Given the description of an element on the screen output the (x, y) to click on. 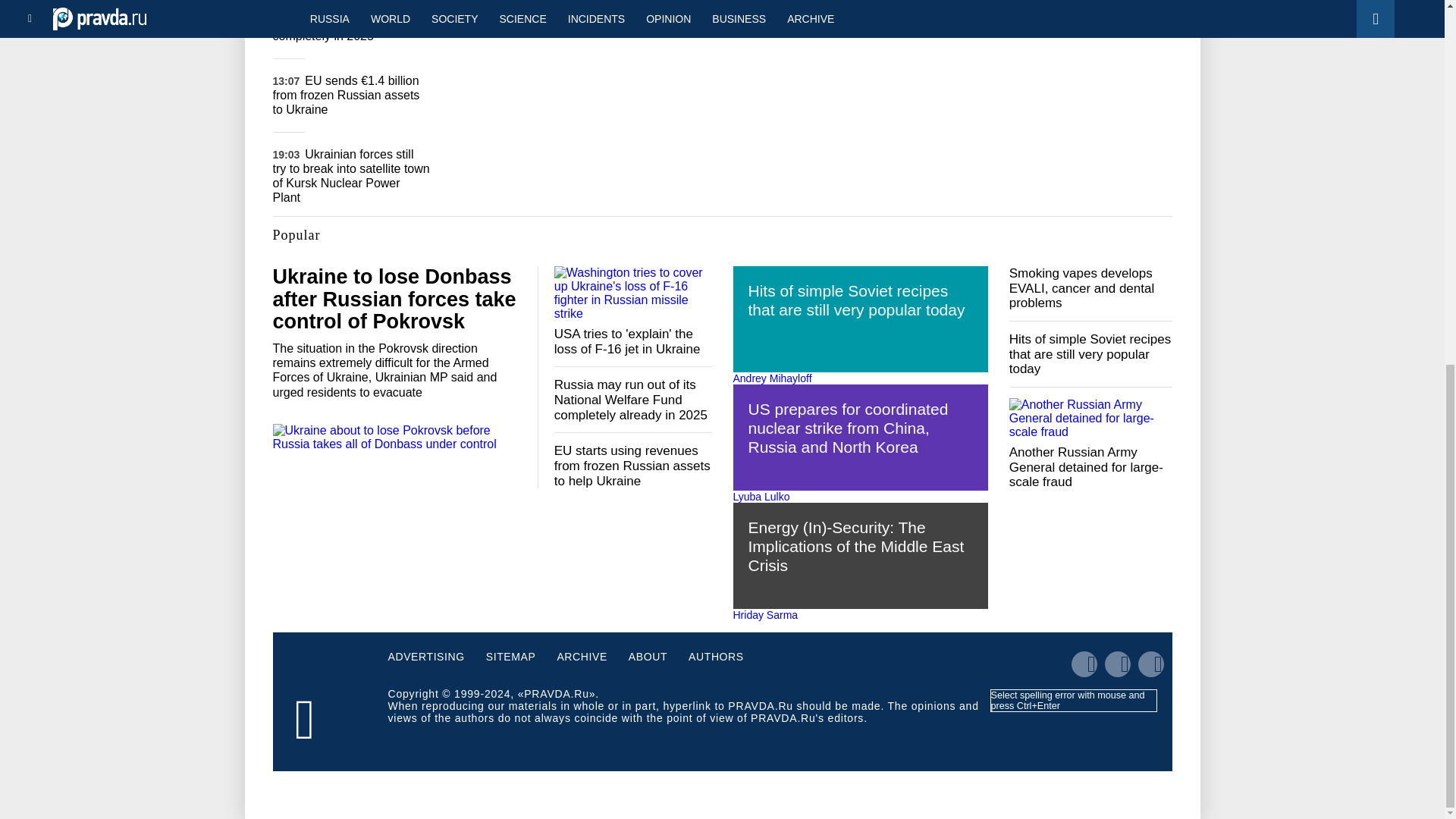
Back to top (1418, 245)
